Given the description of an element on the screen output the (x, y) to click on. 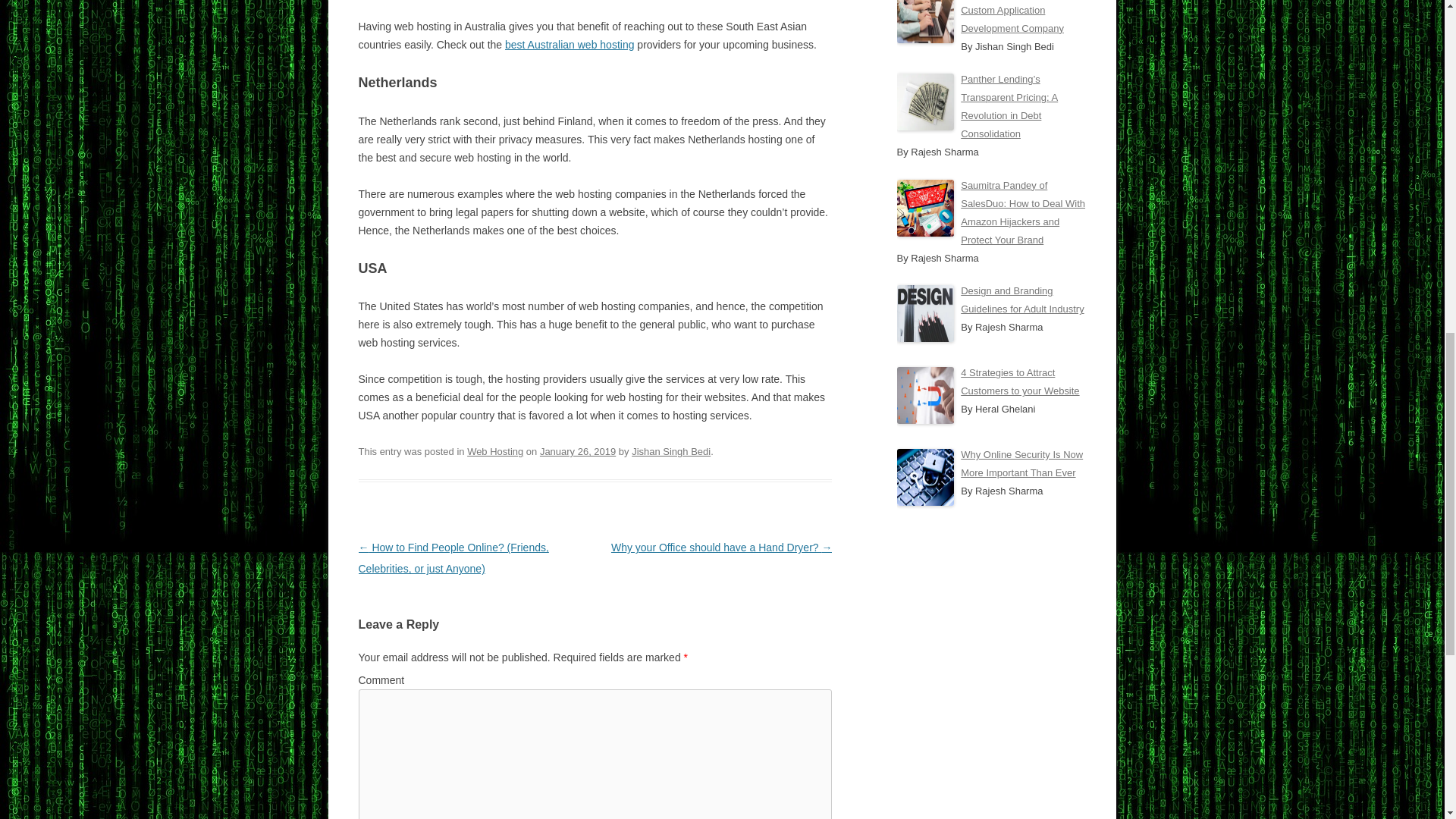
Web Hosting (494, 451)
Why Online Security Is Now More Important Than Ever (1021, 463)
best Australian web hosting (569, 44)
4 Strategies to Attract Customers to your Website (1019, 381)
Design and Branding Guidelines for Adult Industry (1021, 299)
January 26, 2019 (577, 451)
Jishan Singh Bedi (670, 451)
View all posts by Jishan Singh Bedi (670, 451)
3:15 pm (577, 451)
